Given the description of an element on the screen output the (x, y) to click on. 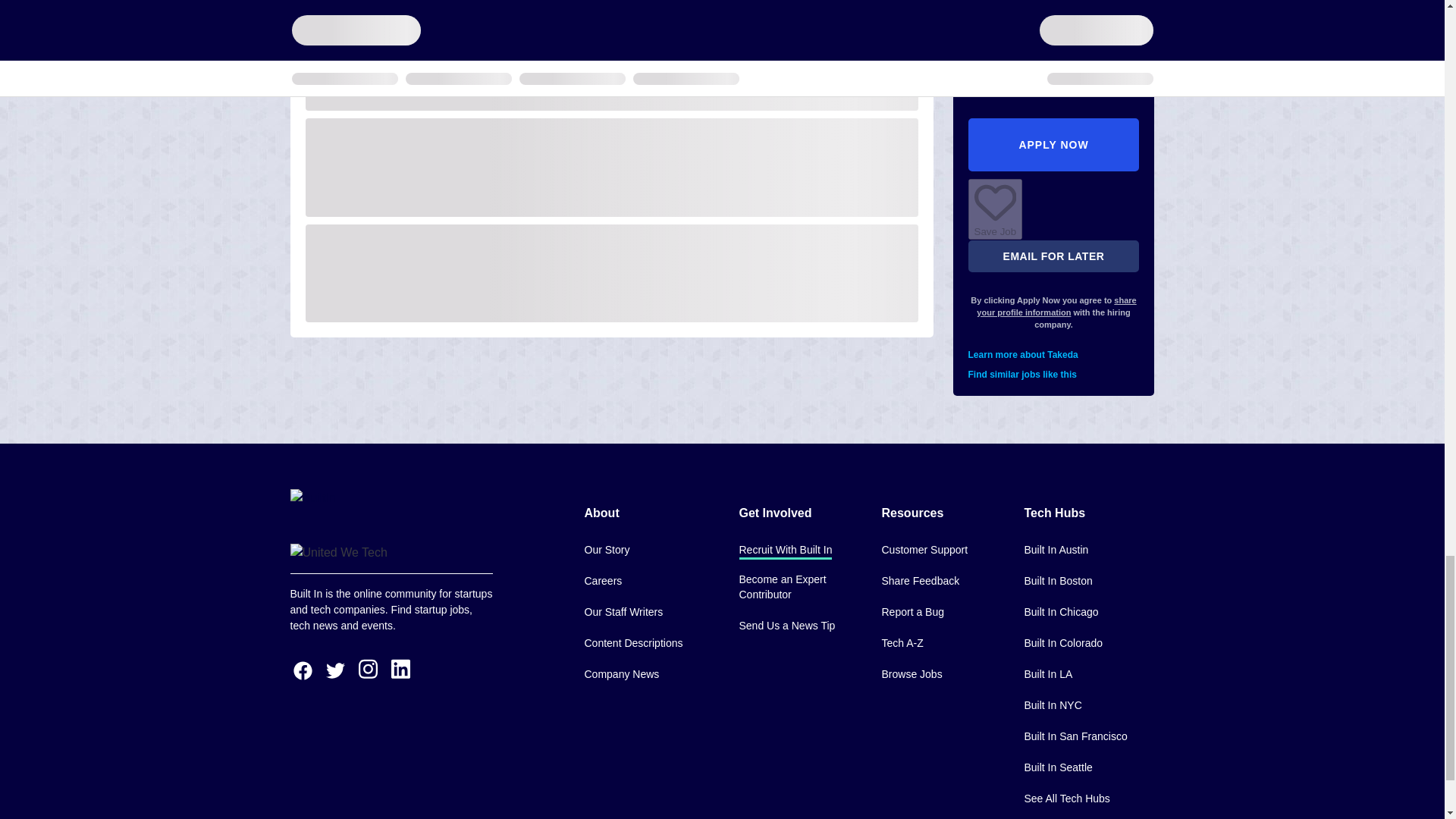
Careers (602, 581)
Send Us a News Tip (786, 626)
Content Descriptions (632, 643)
Become an Expert Contributor (797, 587)
Report a Bug (911, 612)
Tech A-Z (901, 643)
Customer Support (924, 550)
Our Story (605, 550)
Share Feedback (919, 581)
Recruit With Built In (784, 550)
Company News (621, 674)
Our Staff Writers (622, 612)
